Given the description of an element on the screen output the (x, y) to click on. 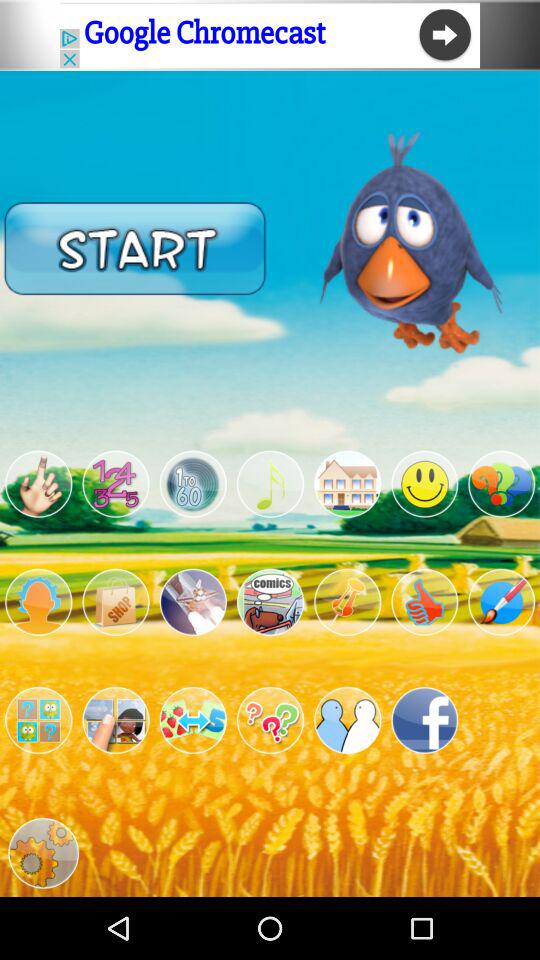
view the folder (38, 720)
